Given the description of an element on the screen output the (x, y) to click on. 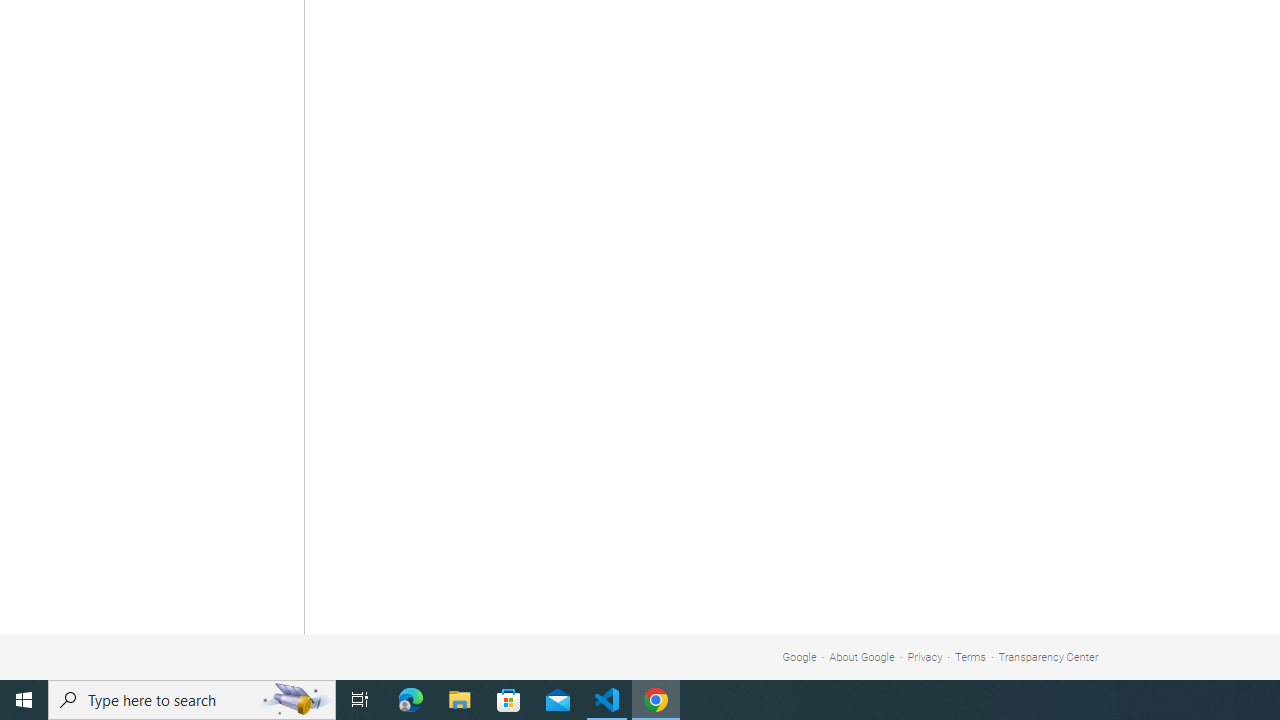
About Google (861, 656)
Transparency Center (1048, 656)
